Given the description of an element on the screen output the (x, y) to click on. 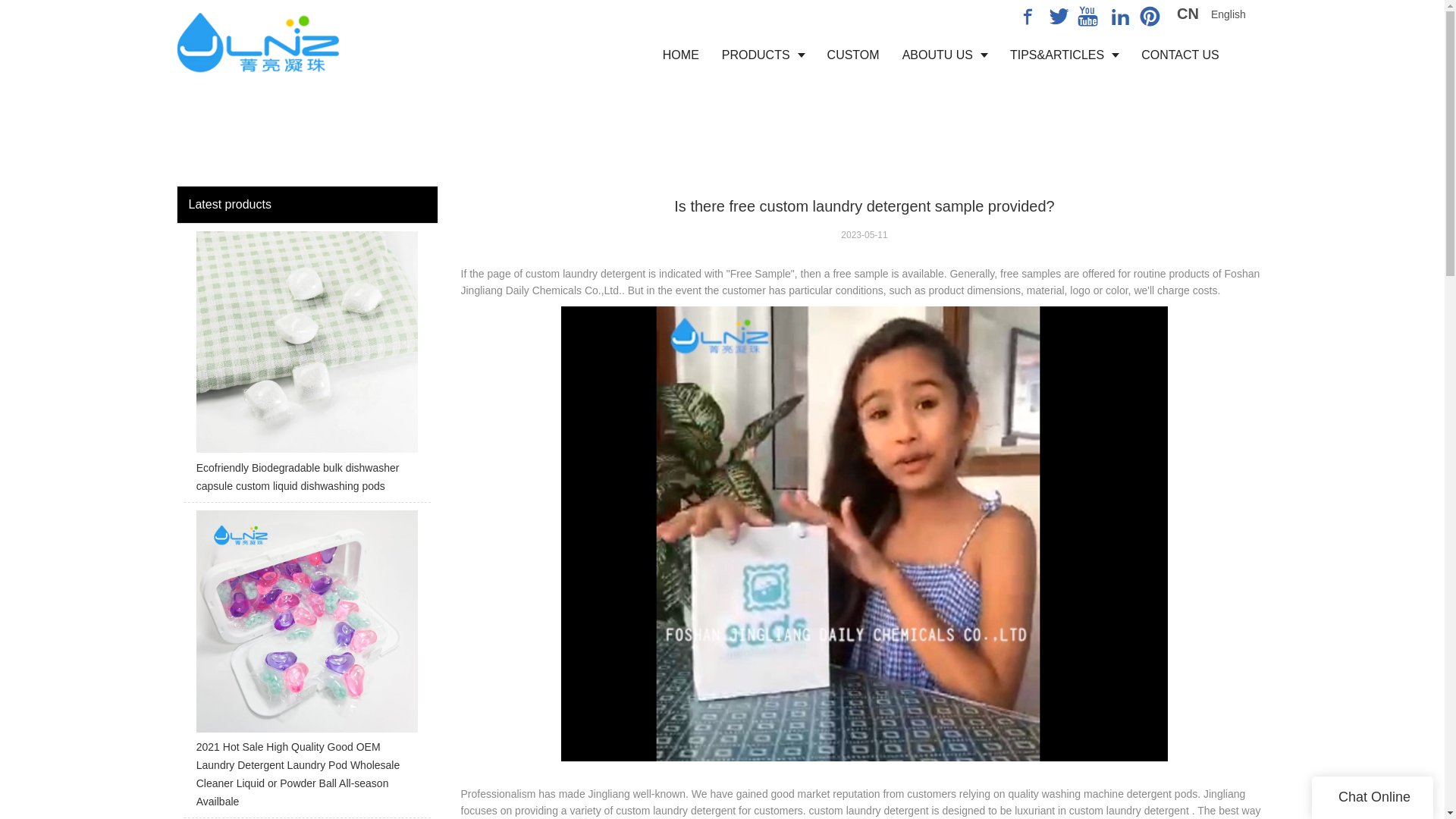
PRODUCTS (762, 55)
HOME (680, 55)
CN (1187, 15)
CONTACT US (1179, 55)
ABOUTU US (944, 55)
CUSTOM (853, 55)
